Given the description of an element on the screen output the (x, y) to click on. 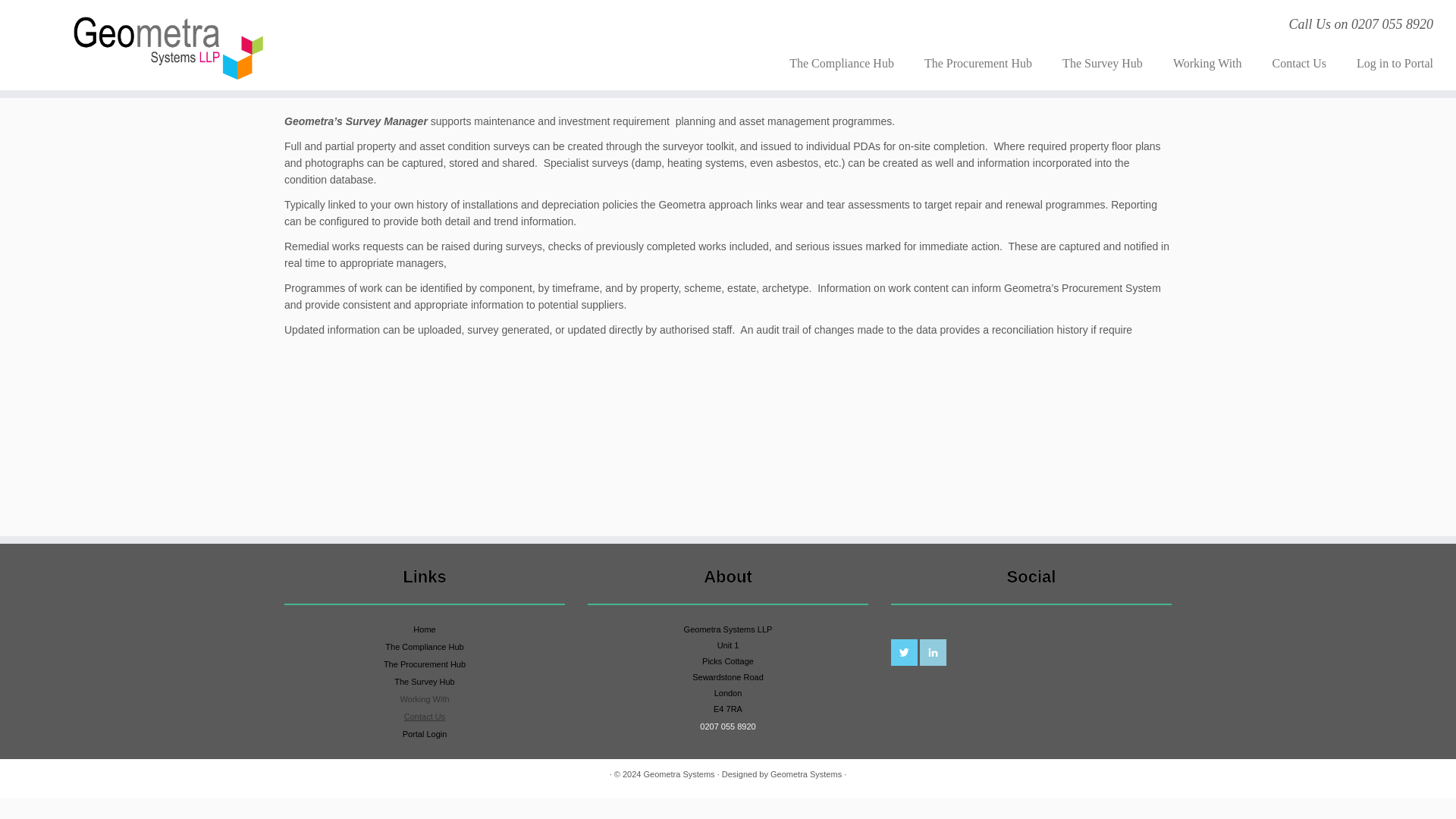
Log in to Portal (1386, 62)
The Survey Hub (424, 681)
The Procurement Hub (424, 664)
The Compliance Hub (841, 62)
LinkedIn (933, 652)
Working With (1207, 62)
The Procurement Hub (977, 62)
The Survey Hub (1101, 62)
Contact Us (1299, 62)
